Given the description of an element on the screen output the (x, y) to click on. 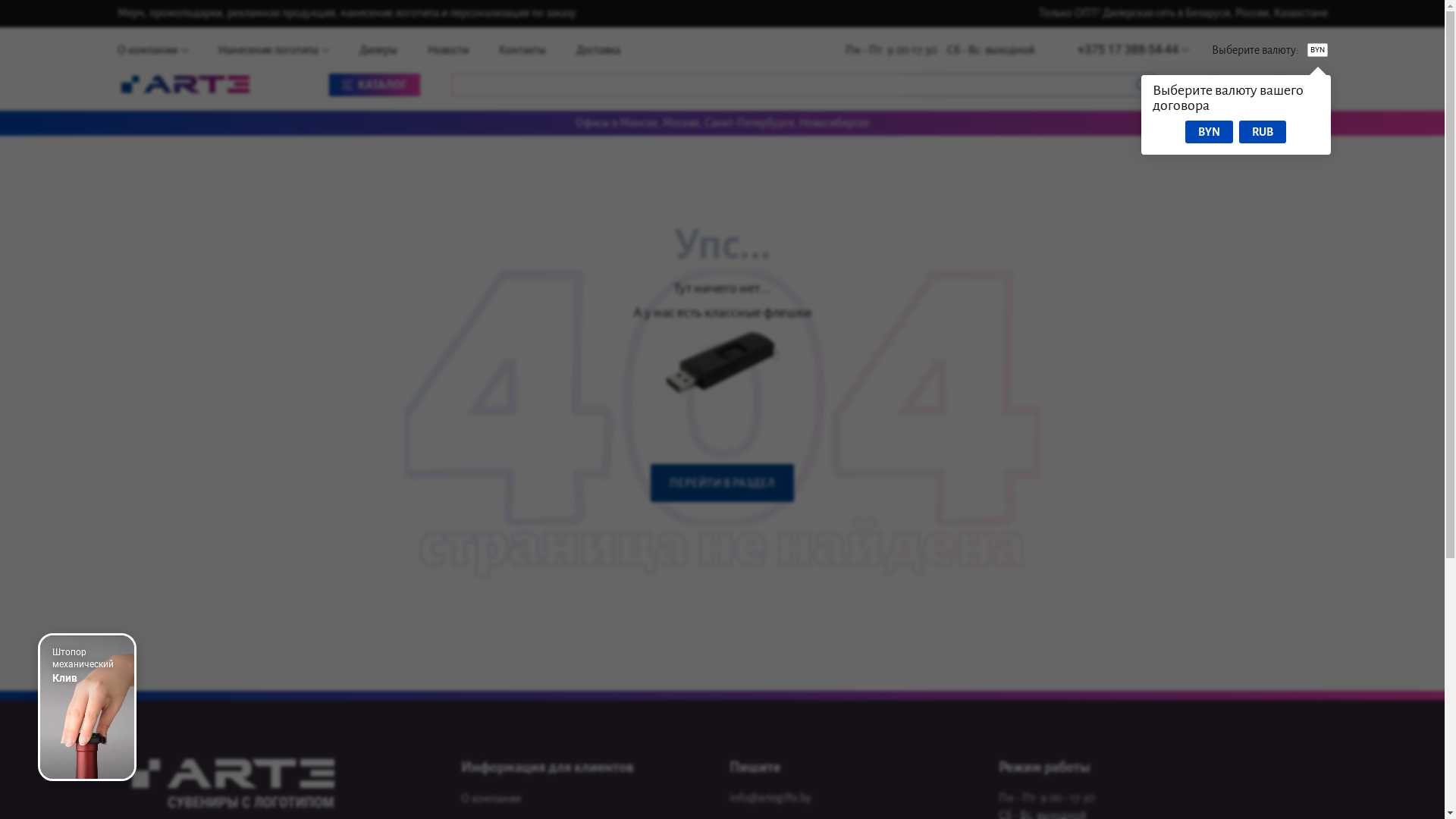
BYN Element type: text (1209, 131)
+375 17 388-54-44 Element type: text (1132, 49)
info@artegifts.by Element type: text (770, 798)
RUB Element type: text (1262, 131)
